Given the description of an element on the screen output the (x, y) to click on. 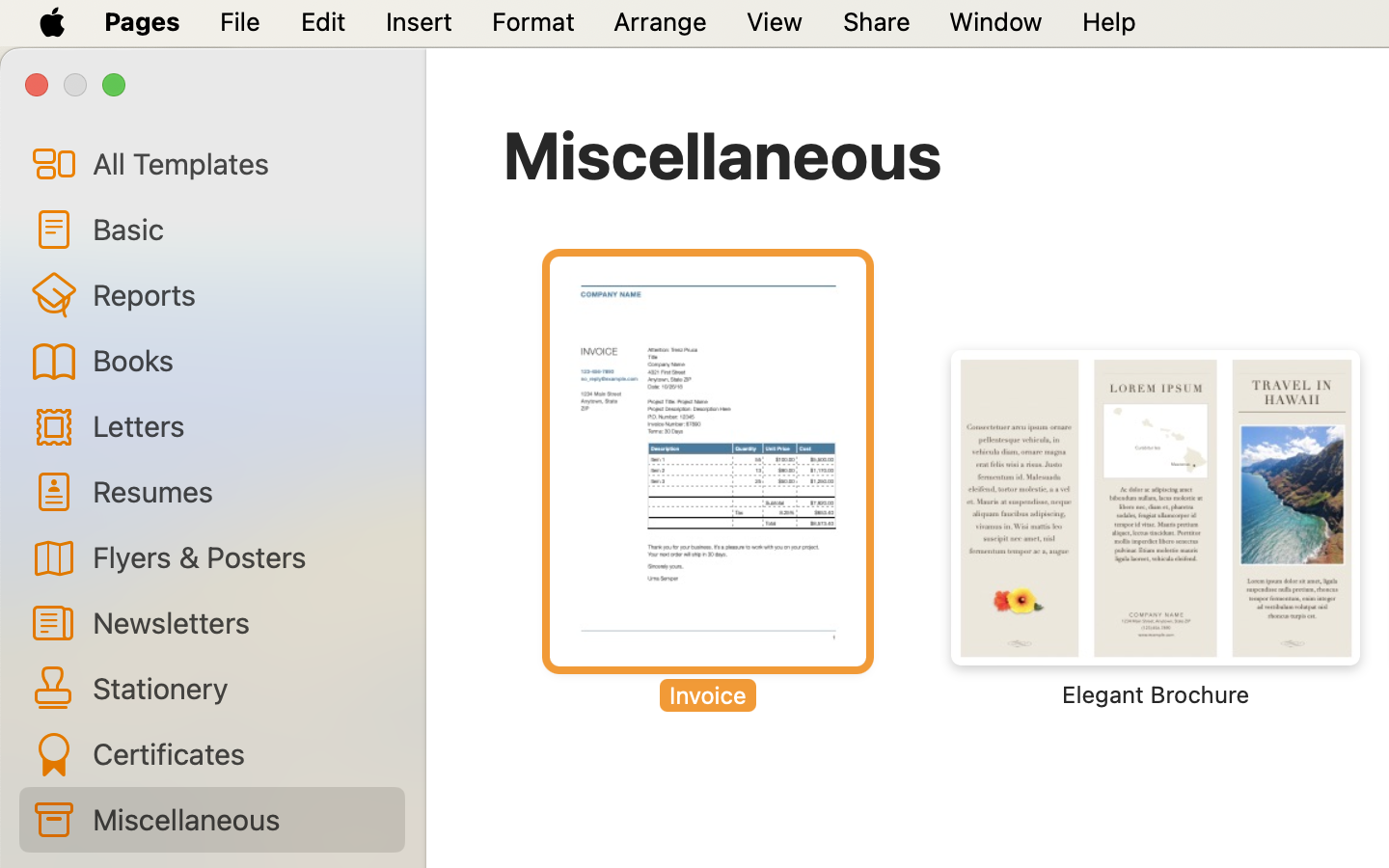
Reports Element type: AXStaticText (240, 293)
Flyers & Posters Element type: AXStaticText (240, 556)
Miscellaneous Element type: AXStaticText (722, 153)
‎⁨Invoice⁩ Element type: AXButton (707, 483)
Resumes Element type: AXStaticText (240, 490)
